Given the description of an element on the screen output the (x, y) to click on. 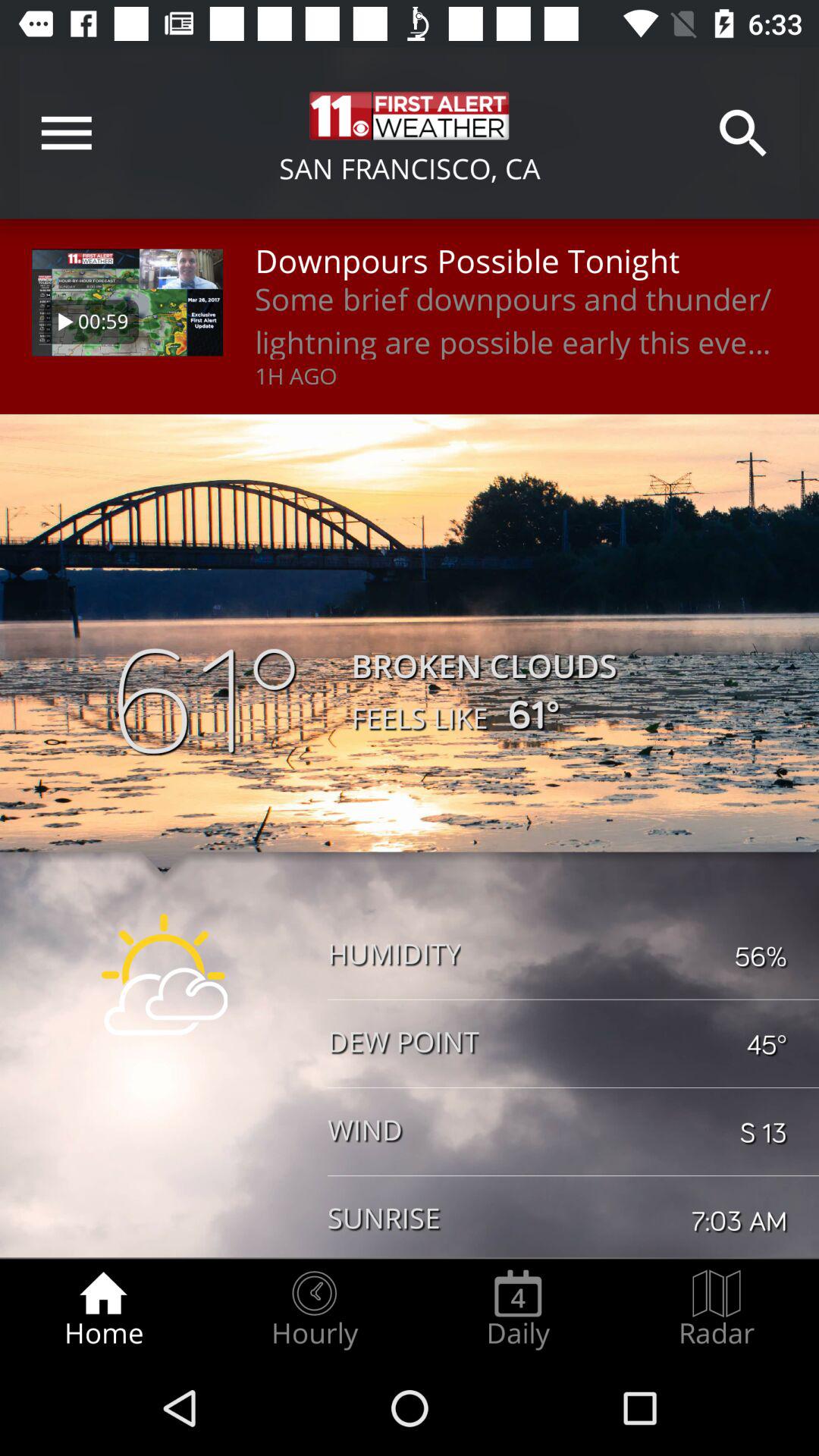
tap icon next to hourly icon (103, 1309)
